Given the description of an element on the screen output the (x, y) to click on. 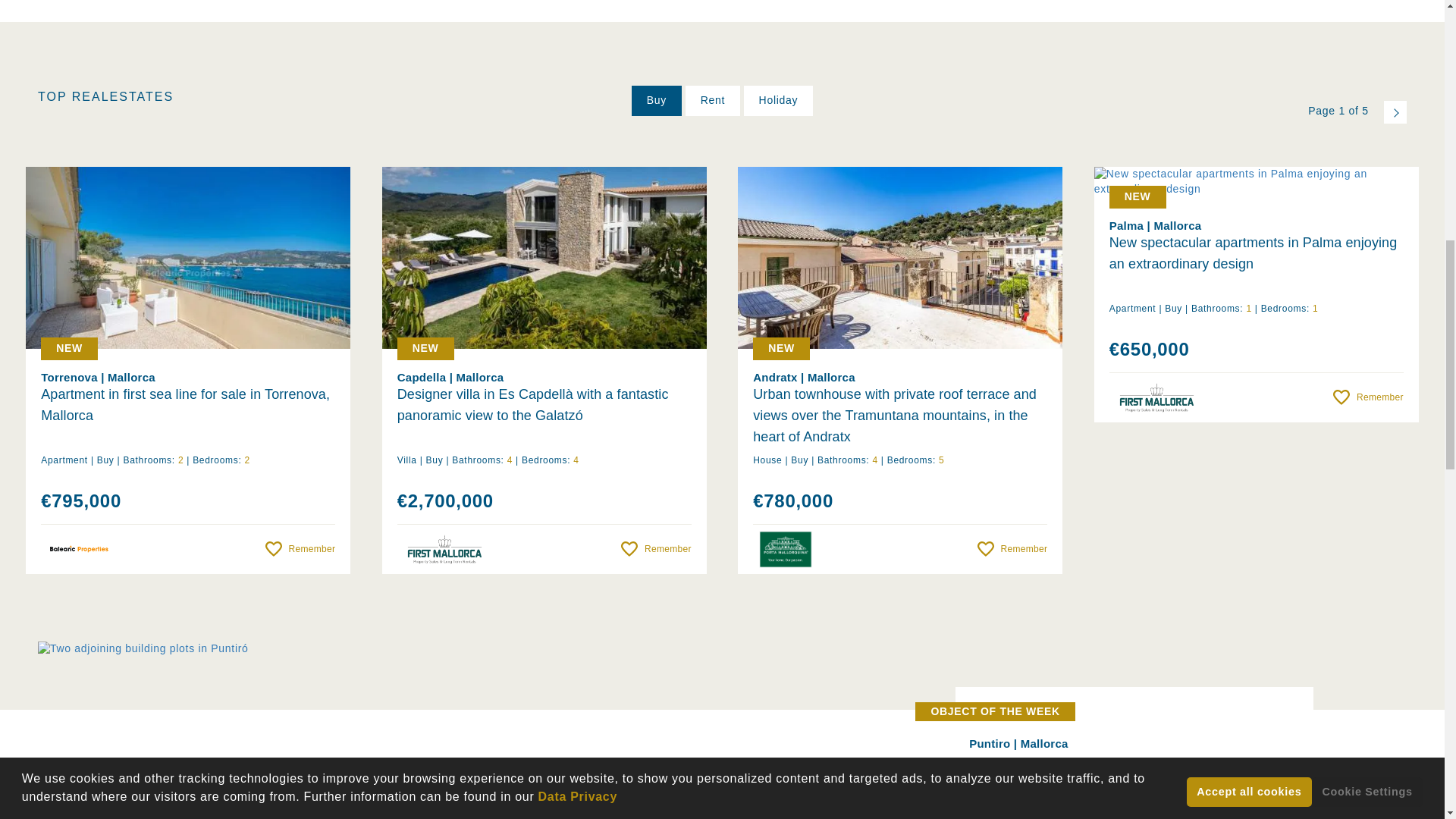
Apartment in first sea line for sale in Torrenova, Mallorca (188, 257)
Apartment in first sea line for sale in Torrenova, Mallorca (187, 414)
